Given the description of an element on the screen output the (x, y) to click on. 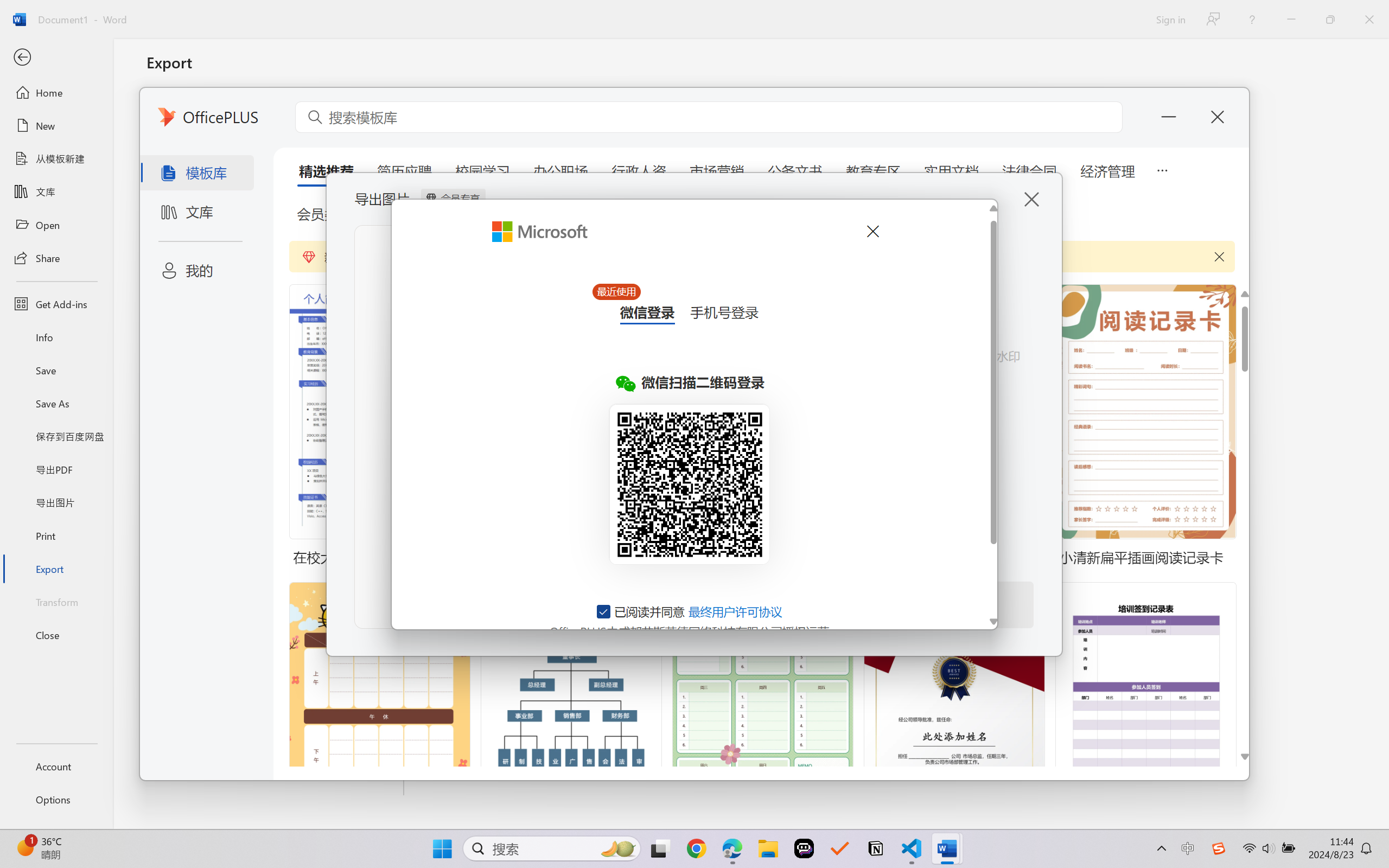
Save As (56, 403)
